Given the description of an element on the screen output the (x, y) to click on. 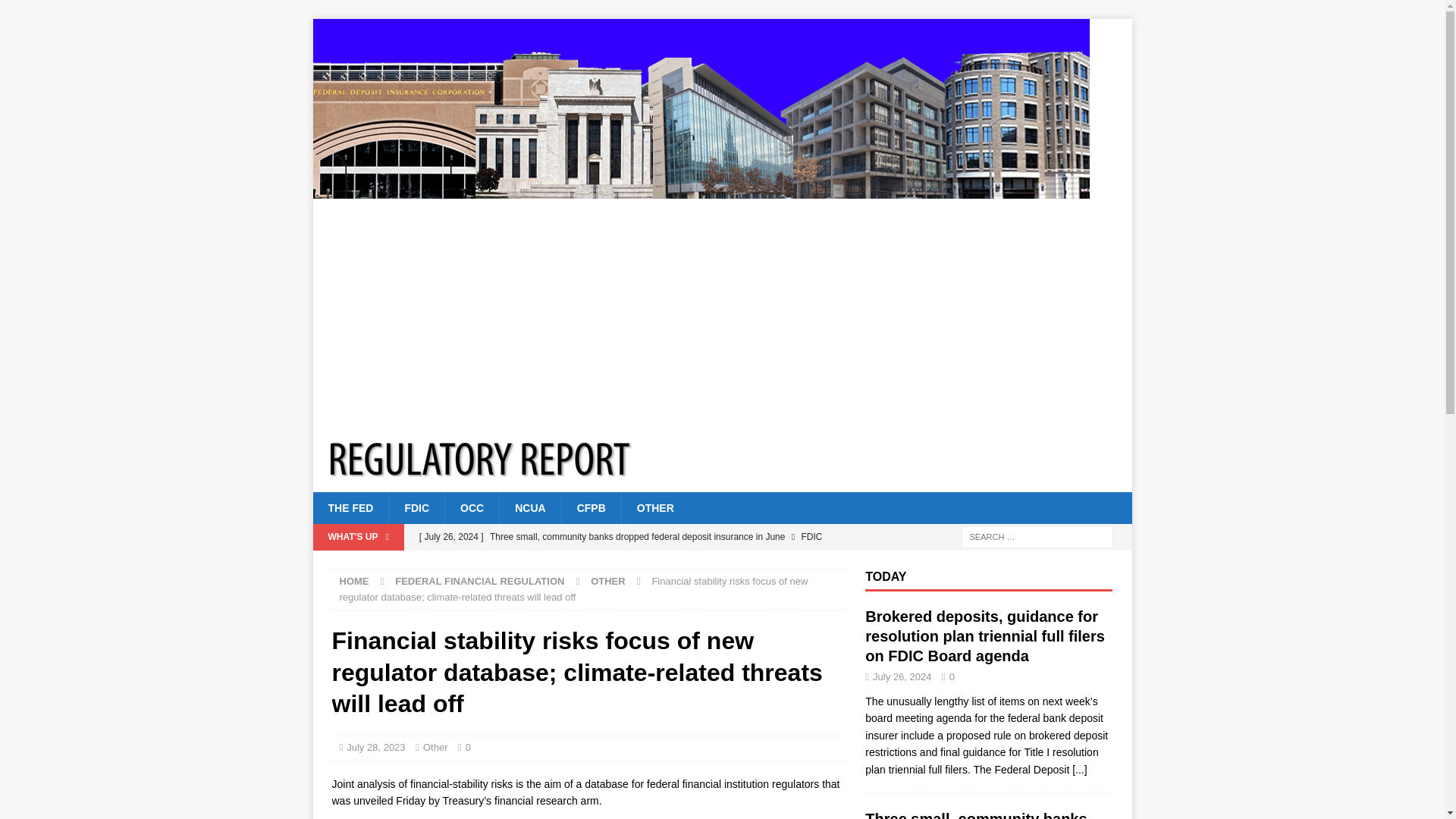
OTHER (654, 508)
OCC (471, 508)
HOME (354, 581)
OTHER (608, 581)
NCUA (529, 508)
Search (56, 11)
THE FED (350, 508)
Other (435, 747)
FEDERAL FINANCIAL REGULATION (479, 581)
Regulatory Report (701, 190)
CFPB (590, 508)
